Given the description of an element on the screen output the (x, y) to click on. 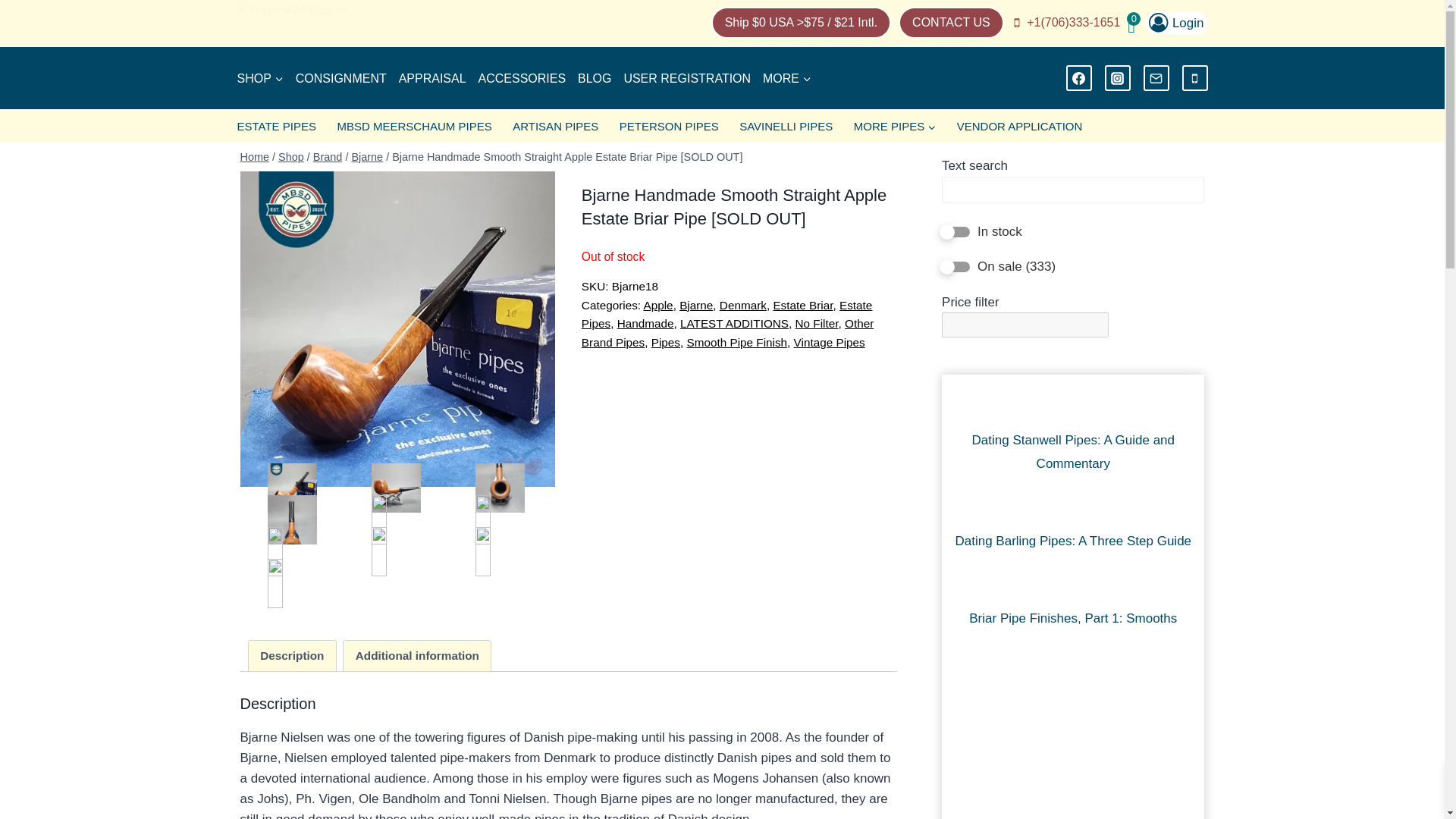
CONSIGNMENT (341, 78)
Login (1175, 23)
Estate-Briar-Pipe-04 (292, 519)
Estate-Briar-Pipe-02 (395, 487)
Estate-Briar-Pipe-08 (395, 551)
Estate-Briar-Pipe-03 (500, 487)
APPRAISAL (431, 78)
Estate-Briar-Pipe-05 (395, 519)
USER REGISTRATION (687, 78)
Estate-Briar-Pipe-01 (292, 487)
